Given the description of an element on the screen output the (x, y) to click on. 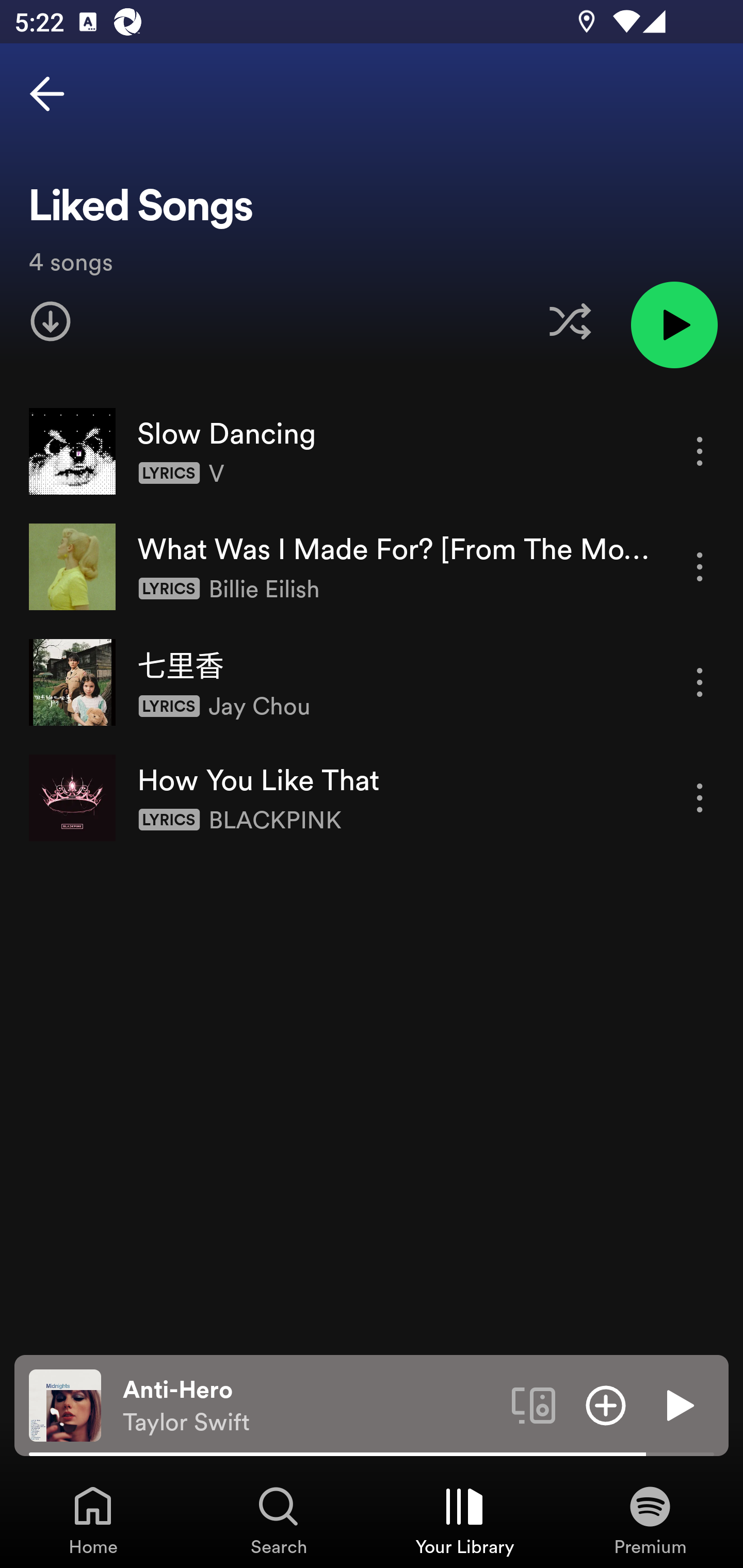
Back (46, 93)
Download (50, 321)
Enable shuffle for this liked songs (569, 321)
Play liked songs (674, 324)
More options for song Slow Dancing (699, 450)
七里香 More options for song 七里香 Lyrics Jay Chou (371, 682)
More options for song 七里香 (699, 682)
More options for song How You Like That (699, 798)
Anti-Hero Taylor Swift (309, 1405)
The cover art of the currently playing track (64, 1404)
Connect to a device. Opens the devices menu (533, 1404)
Add item (605, 1404)
Play (677, 1404)
Home, Tab 1 of 4 Home Home (92, 1519)
Search, Tab 2 of 4 Search Search (278, 1519)
Your Library, Tab 3 of 4 Your Library Your Library (464, 1519)
Premium, Tab 4 of 4 Premium Premium (650, 1519)
